Given the description of an element on the screen output the (x, y) to click on. 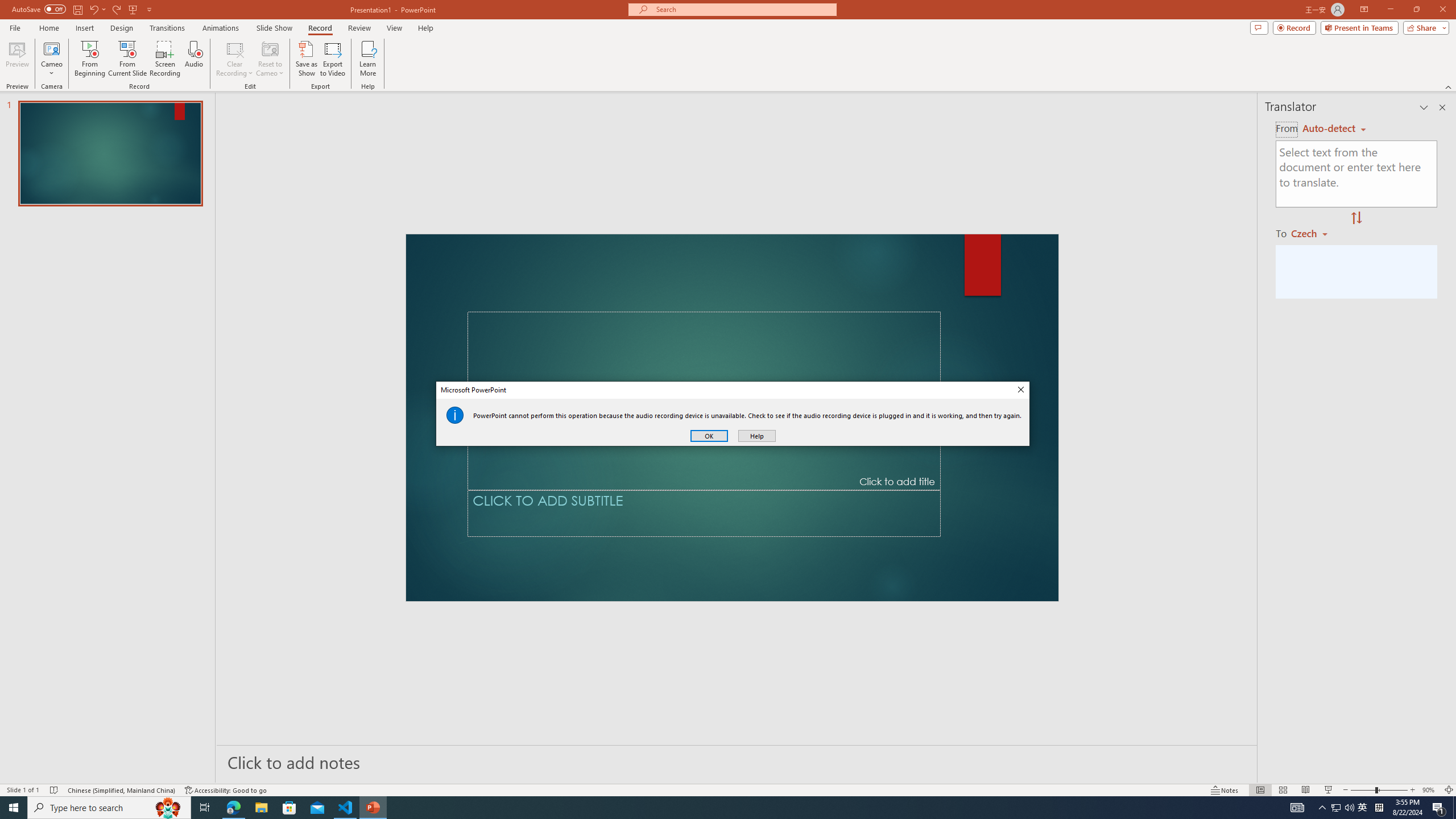
Screen Recording (165, 58)
Reset to Cameo (269, 58)
